Given the description of an element on the screen output the (x, y) to click on. 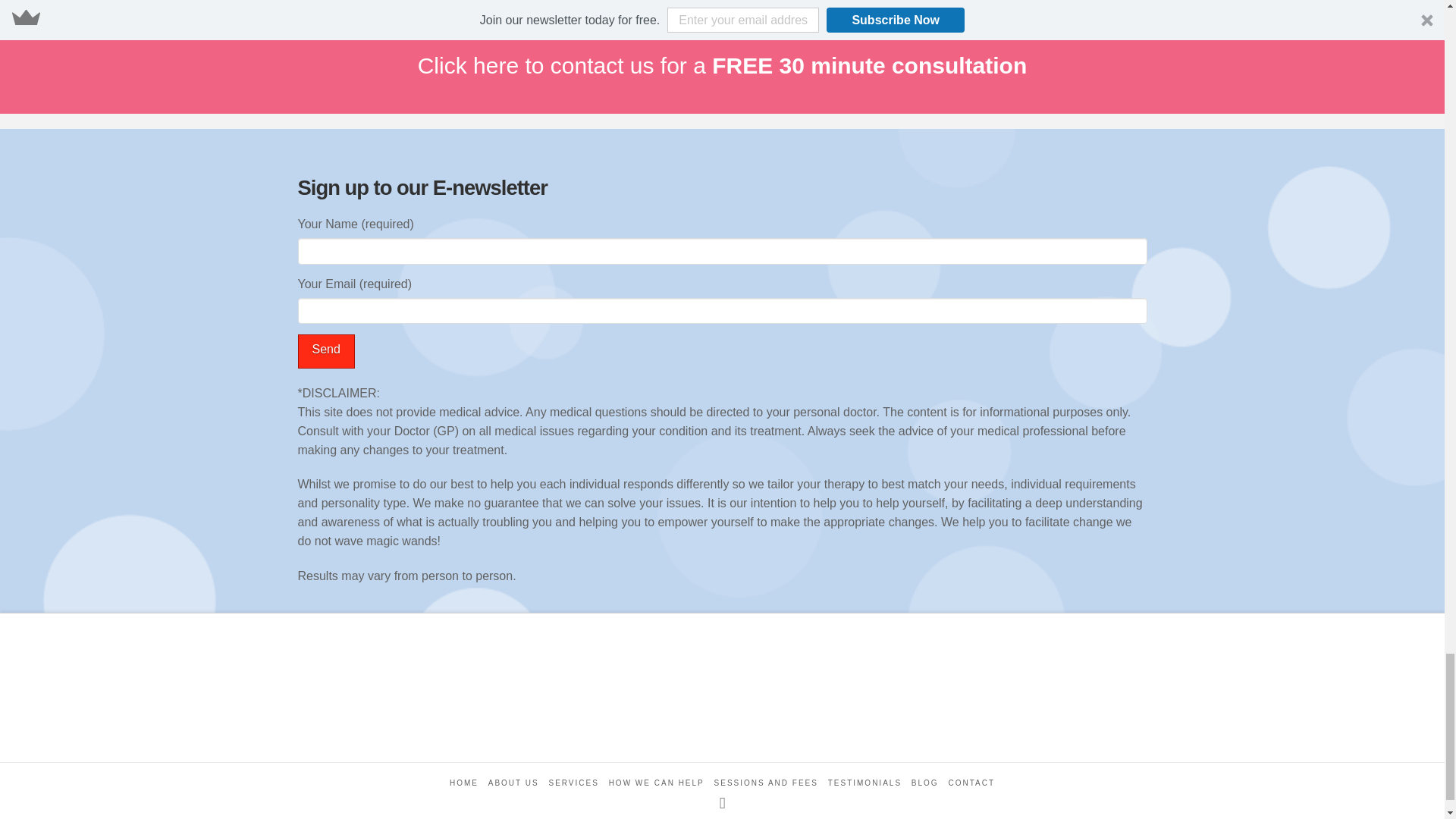
Send (325, 351)
Facebook (722, 803)
